Given the description of an element on the screen output the (x, y) to click on. 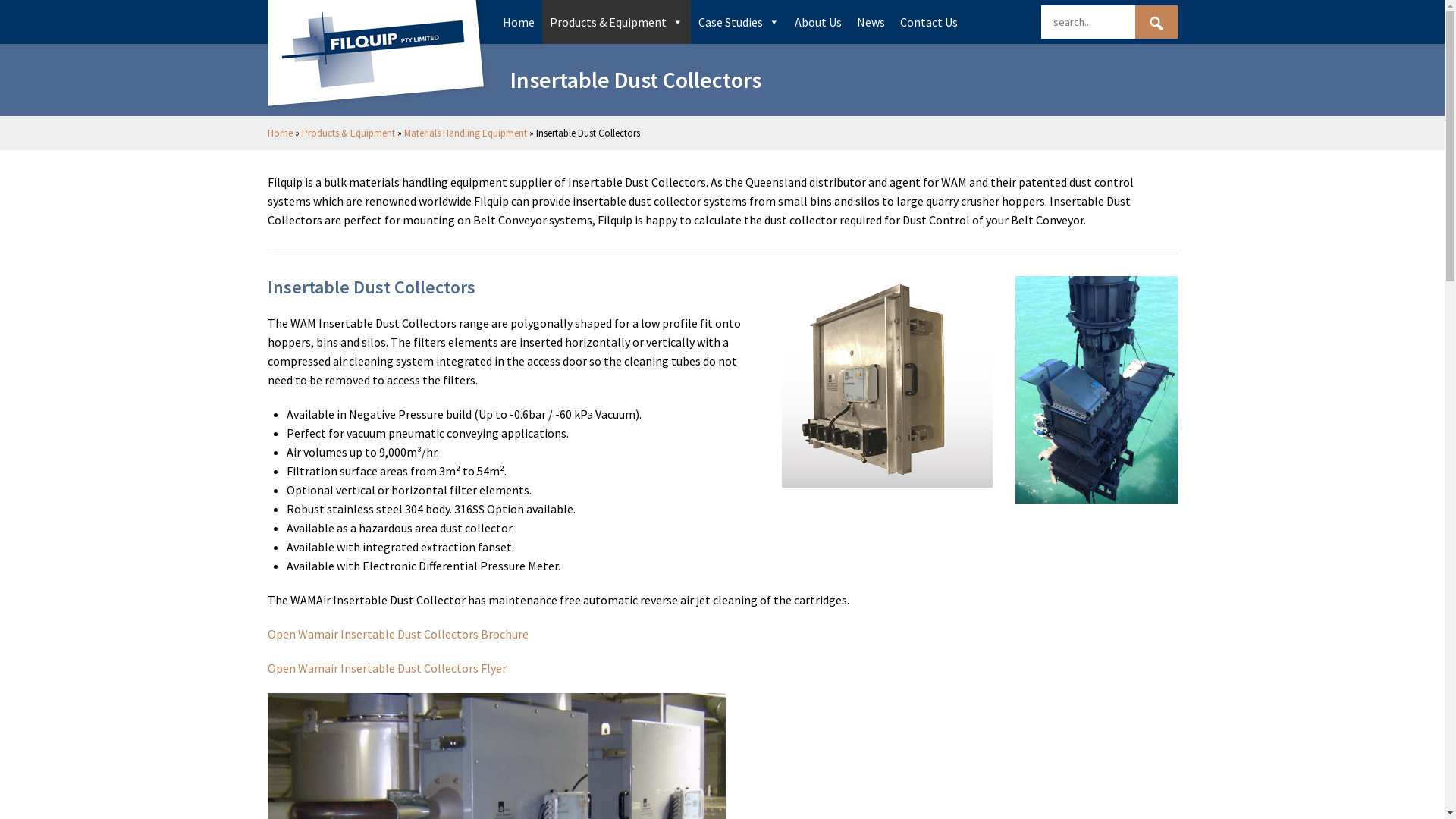
Open Wamair Insertable Dust Collectors Brochure Element type: text (396, 633)
Materials Handling Equipment Element type: text (464, 132)
Wamair Insertable Dust Collectors Flyer Element type: text (401, 667)
Products & Equipment Element type: text (615, 21)
Products & Equipment Element type: text (348, 132)
Home Element type: text (278, 132)
Contact Us Element type: text (927, 21)
Open Element type: text (281, 667)
Case Studies Element type: text (738, 21)
Home Element type: text (517, 21)
About Us Element type: text (818, 21)
News Element type: text (870, 21)
